Given the description of an element on the screen output the (x, y) to click on. 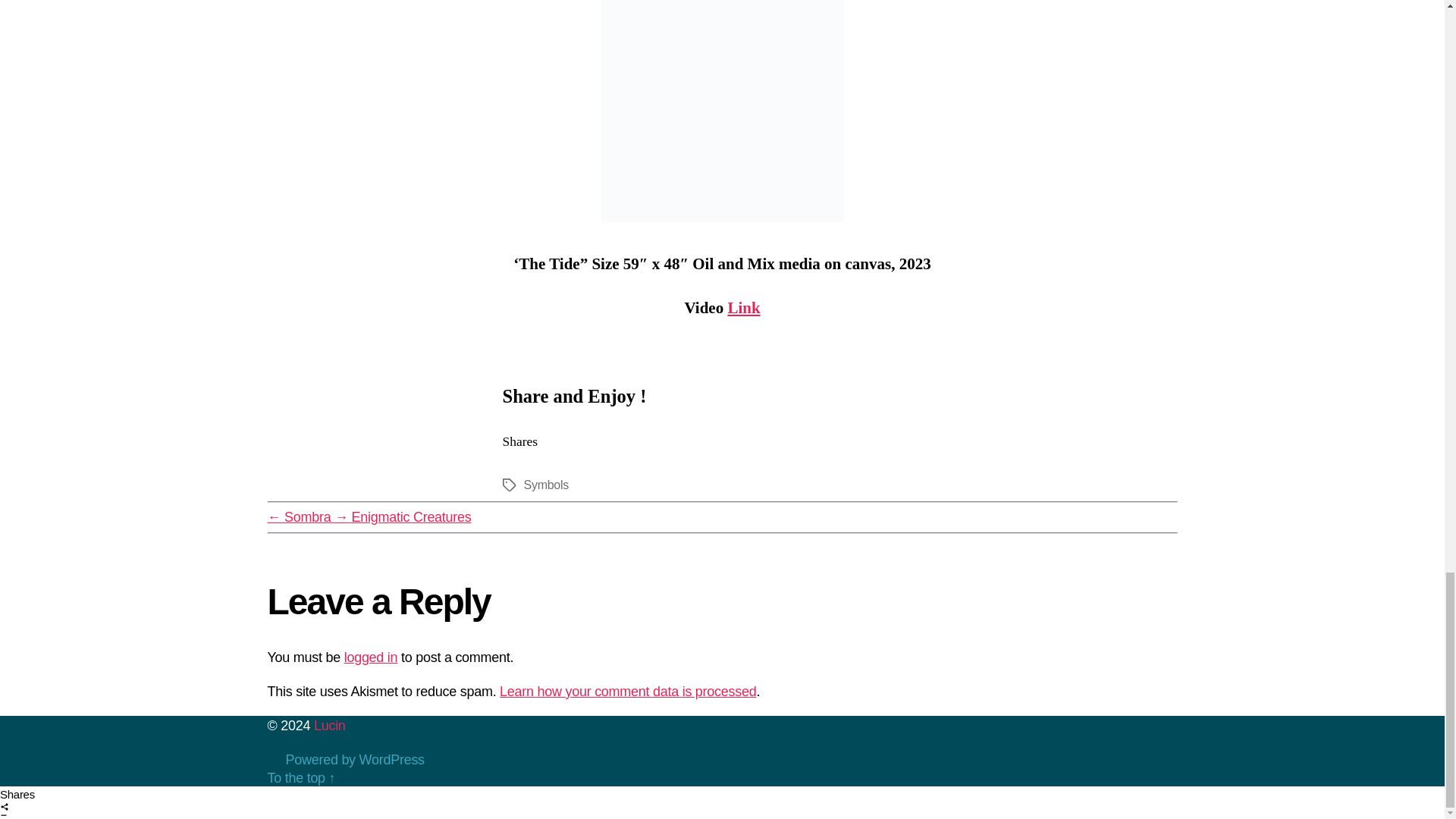
Symbols (544, 484)
Link (743, 307)
The Tide (721, 110)
